Given the description of an element on the screen output the (x, y) to click on. 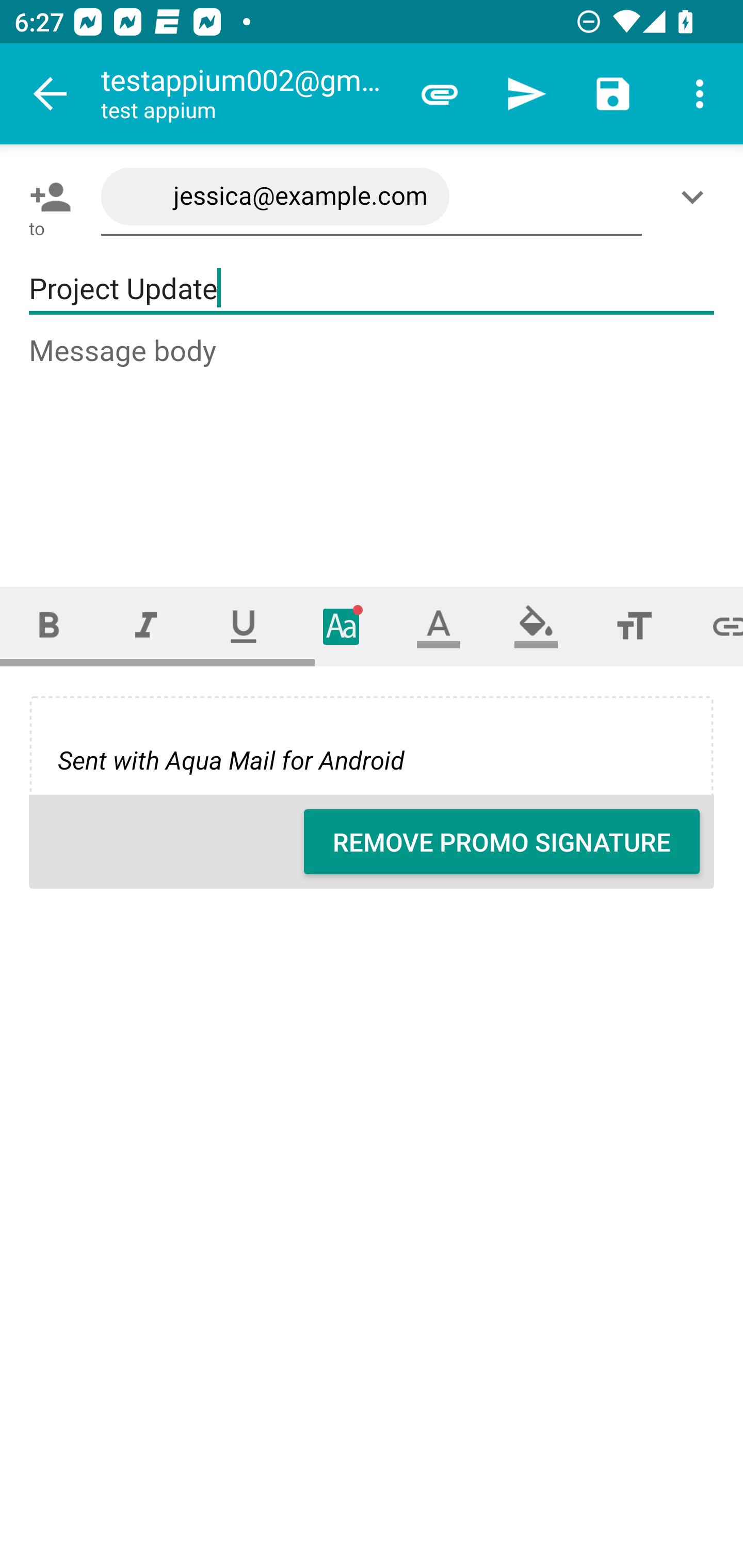
Navigate up (50, 93)
testappium002@gmail.com test appium (248, 93)
Attach (439, 93)
Send (525, 93)
Save (612, 93)
More options (699, 93)
jessica@example.com,  (371, 197)
Pick contact: To (46, 196)
Show/Add CC/BCC (696, 196)
Project Update (371, 288)
Message body (372, 442)
Bold (48, 626)
Italic (145, 626)
Underline (243, 626)
Typeface (font) (341, 626)
Text color (438, 626)
Fill color (536, 626)
Font size (633, 626)
REMOVE PROMO SIGNATURE (501, 841)
